Given the description of an element on the screen output the (x, y) to click on. 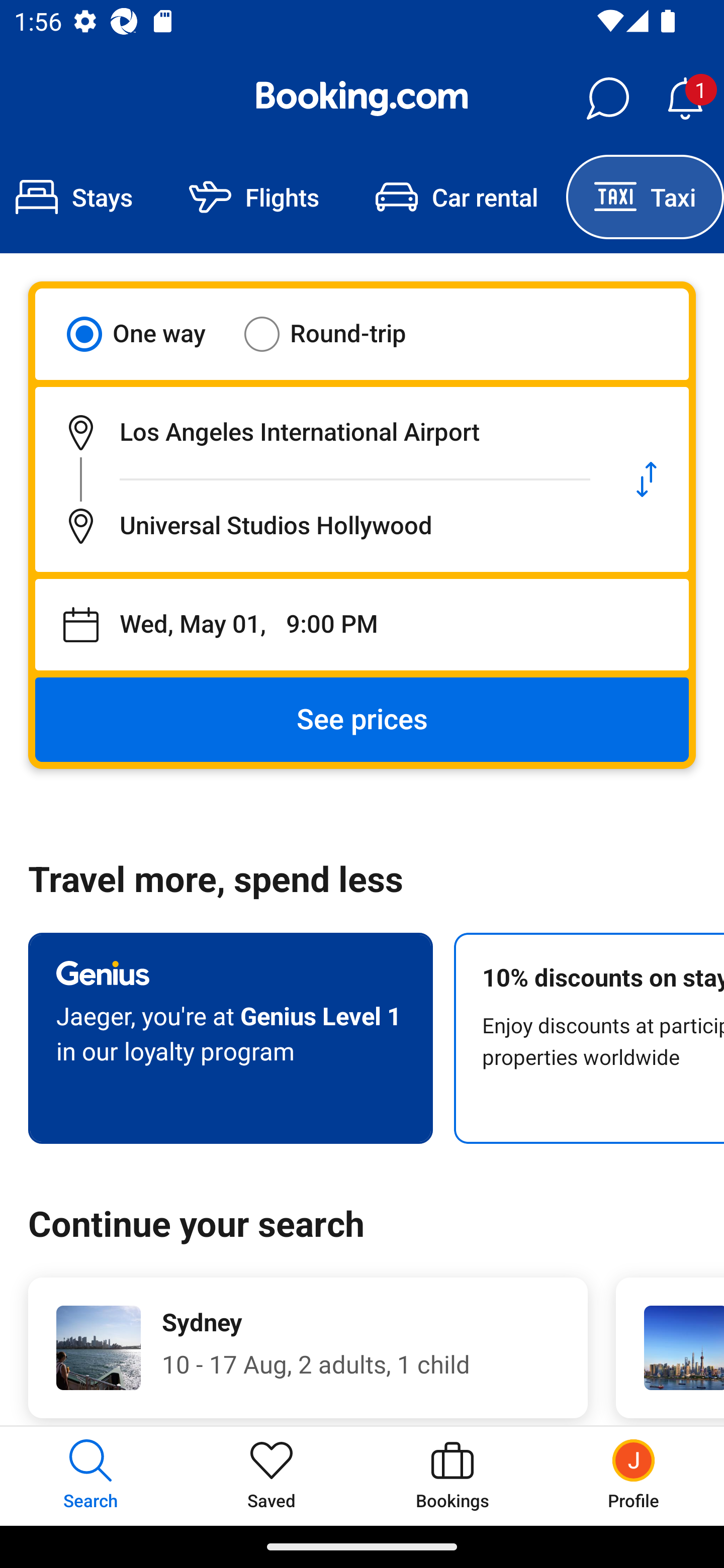
Messages (607, 98)
Notifications (685, 98)
Stays (80, 197)
Flights (253, 197)
Car rental (456, 197)
Taxi (645, 197)
Round-trip (337, 333)
Swap pick-up location and destination (646, 479)
Destination: Universal Studios Hollywood (319, 525)
Pick-up date: Wed, May 01 9:00 PM (361, 624)
See prices (361, 719)
Sydney 10 - 17 Aug, 2 adults, 1 child (307, 1347)
Saved (271, 1475)
Bookings (452, 1475)
Profile (633, 1475)
